Given the description of an element on the screen output the (x, y) to click on. 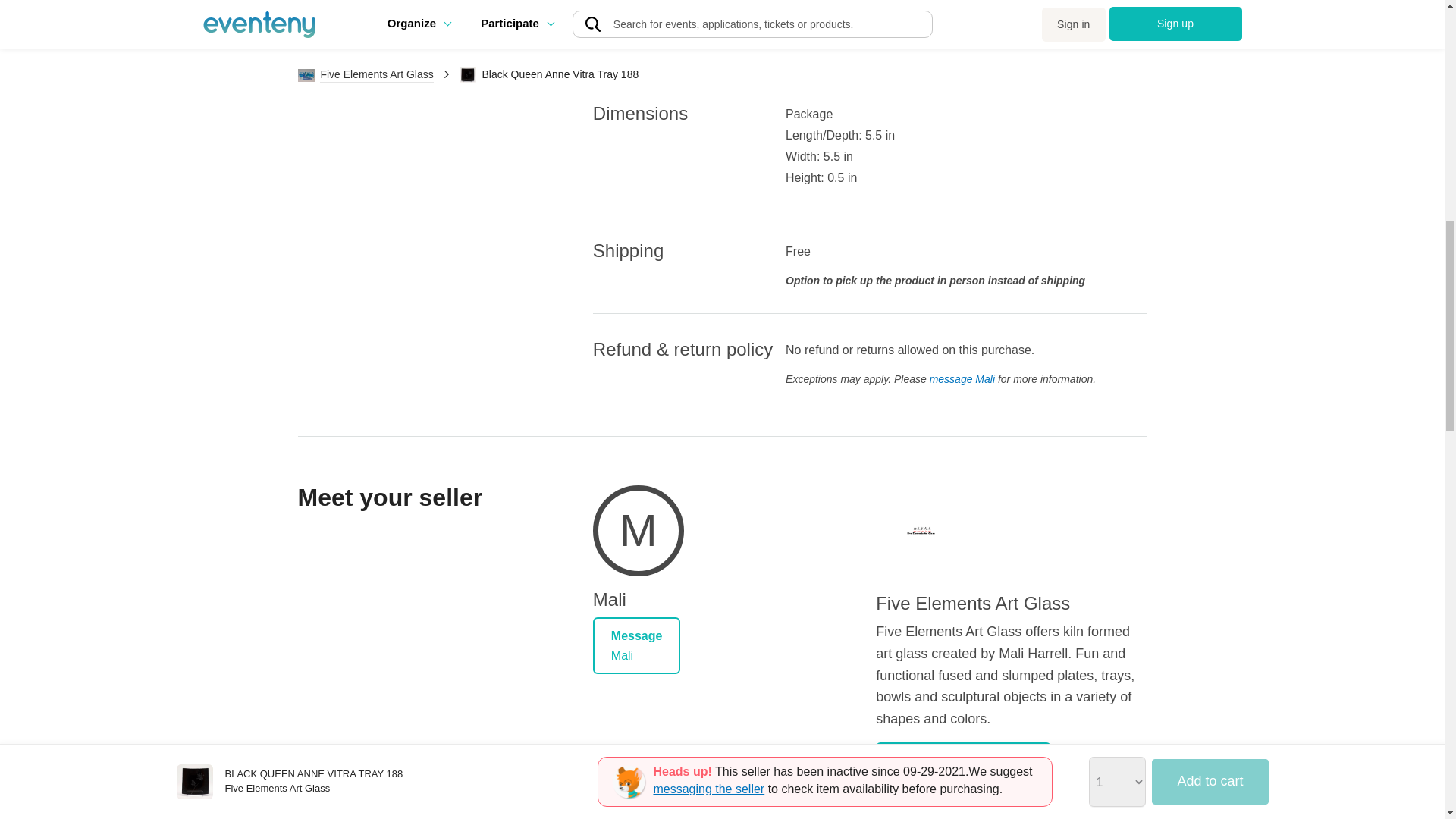
Learn more about Mali (638, 533)
Learn more about Five Elements Art Glass (921, 530)
Follow Five Elements Art Glass (913, 799)
Five Elements Art Glass (963, 761)
